Given the description of an element on the screen output the (x, y) to click on. 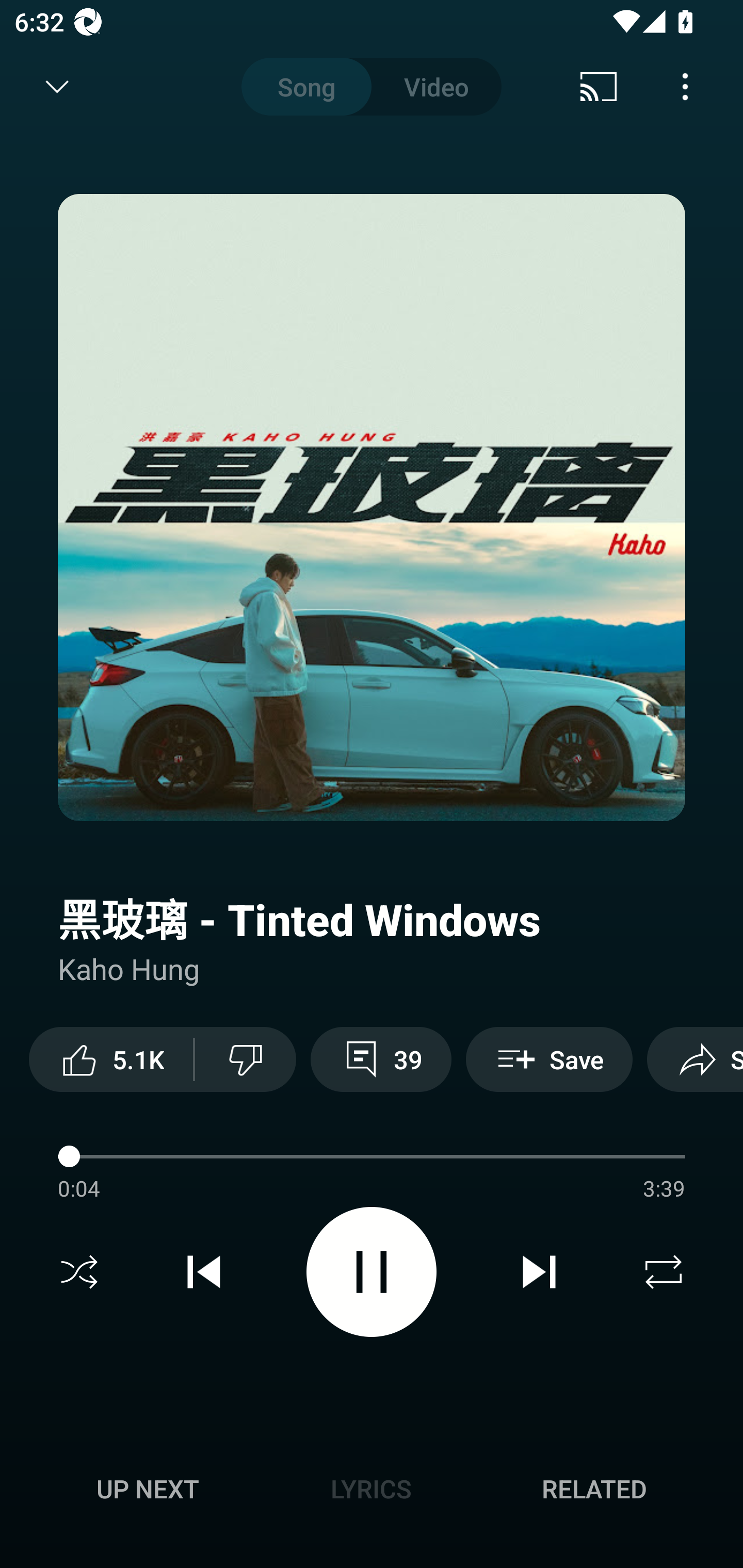
Minimize (57, 86)
Cast. Disconnected (598, 86)
Menu (684, 86)
5.1K like this video along with 5,122 other people (110, 1059)
Dislike (245, 1059)
39 View 39 comments (380, 1059)
Save Save to playlist (548, 1059)
Share (695, 1059)
Pause video (371, 1272)
Shuffle off (79, 1272)
Previous track (203, 1272)
Next track (538, 1272)
Repeat off (663, 1272)
Up next UP NEXT Lyrics LYRICS Related RELATED (371, 1491)
Lyrics LYRICS (370, 1488)
Related RELATED (594, 1488)
